Given the description of an element on the screen output the (x, y) to click on. 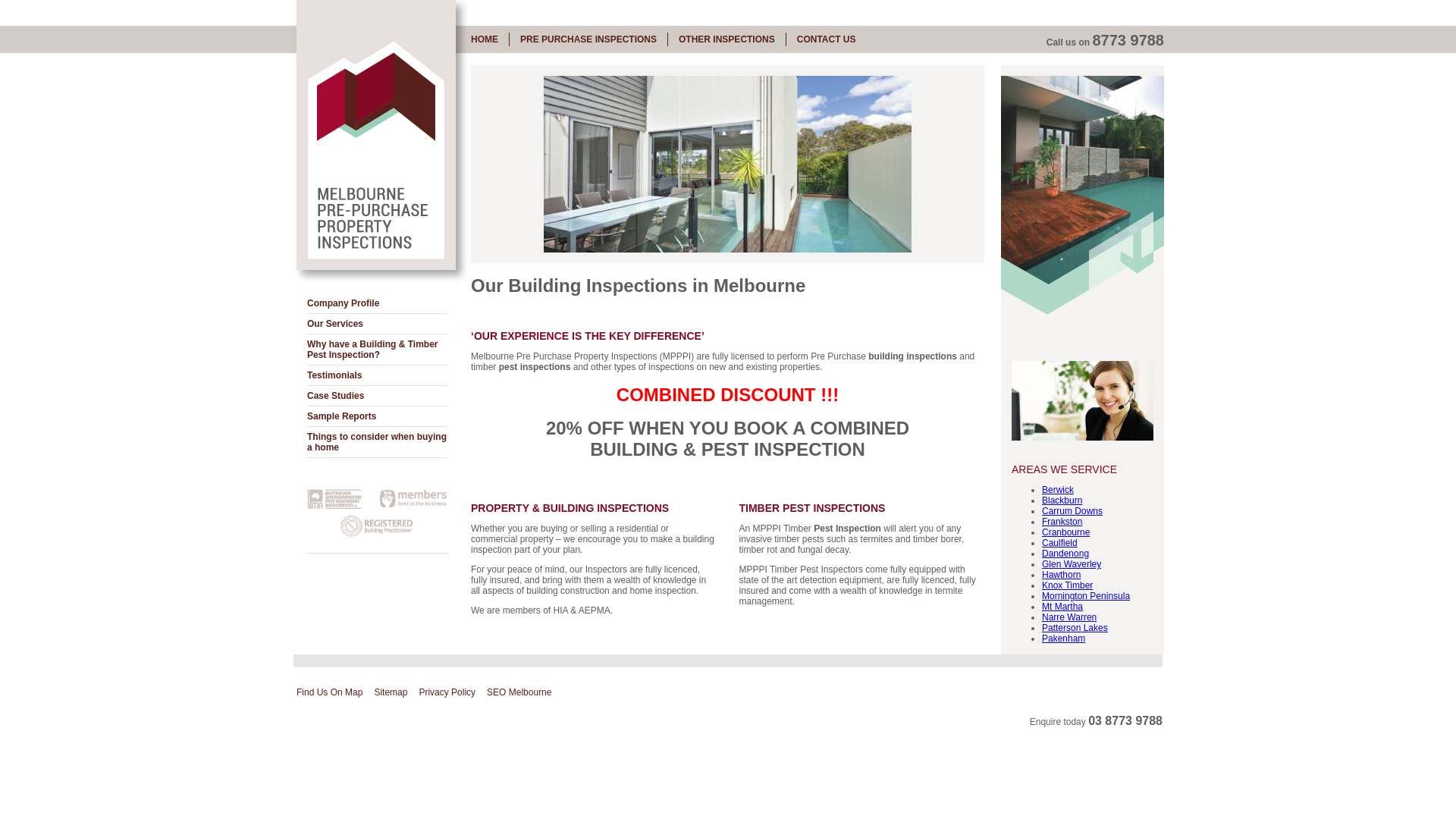
HOME Element type: text (484, 39)
Find Us On Map Element type: text (329, 692)
Why have a Building & Timber Pest Inspection? Element type: text (377, 349)
Frankston Element type: text (1061, 521)
Mt Martha Element type: text (1061, 606)
Cranbourne Element type: text (1065, 532)
Testimonials Element type: text (377, 375)
Knox Timber Element type: text (1066, 585)
Berwick Element type: text (1057, 489)
Caulfield Element type: text (1059, 542)
Sample Reports Element type: text (377, 416)
PRE PURCHASE INSPECTIONS Element type: text (588, 39)
Glen Waverley Element type: text (1071, 563)
Mornington Peninsula Element type: text (1085, 595)
Sitemap Element type: text (390, 692)
CONTACT US Element type: text (826, 39)
OTHER INSPECTIONS Element type: text (726, 39)
SEO Melbourne Element type: text (518, 692)
Our Services Element type: text (377, 323)
Carrum Downs Element type: text (1071, 510)
Pakenham Element type: text (1063, 638)
Dandenong Element type: text (1064, 553)
Case Studies Element type: text (377, 395)
Privacy Policy Element type: text (446, 692)
Blackburn Element type: text (1061, 500)
Patterson Lakes Element type: text (1074, 627)
Things to consider when buying a home Element type: text (377, 442)
Narre Warren Element type: text (1068, 616)
Company Profile Element type: text (377, 303)
Hawthorn Element type: text (1060, 574)
